Given the description of an element on the screen output the (x, y) to click on. 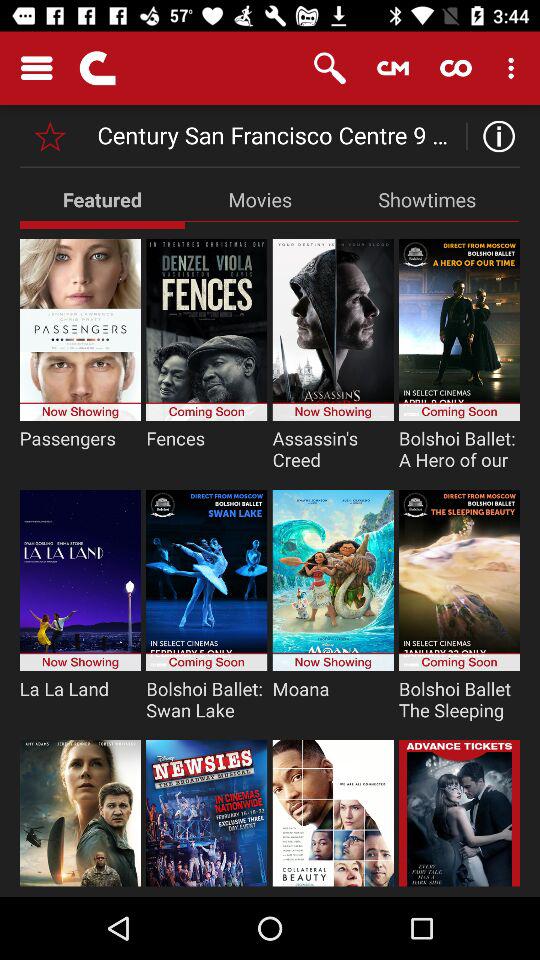
view more information about the theater (493, 136)
